Given the description of an element on the screen output the (x, y) to click on. 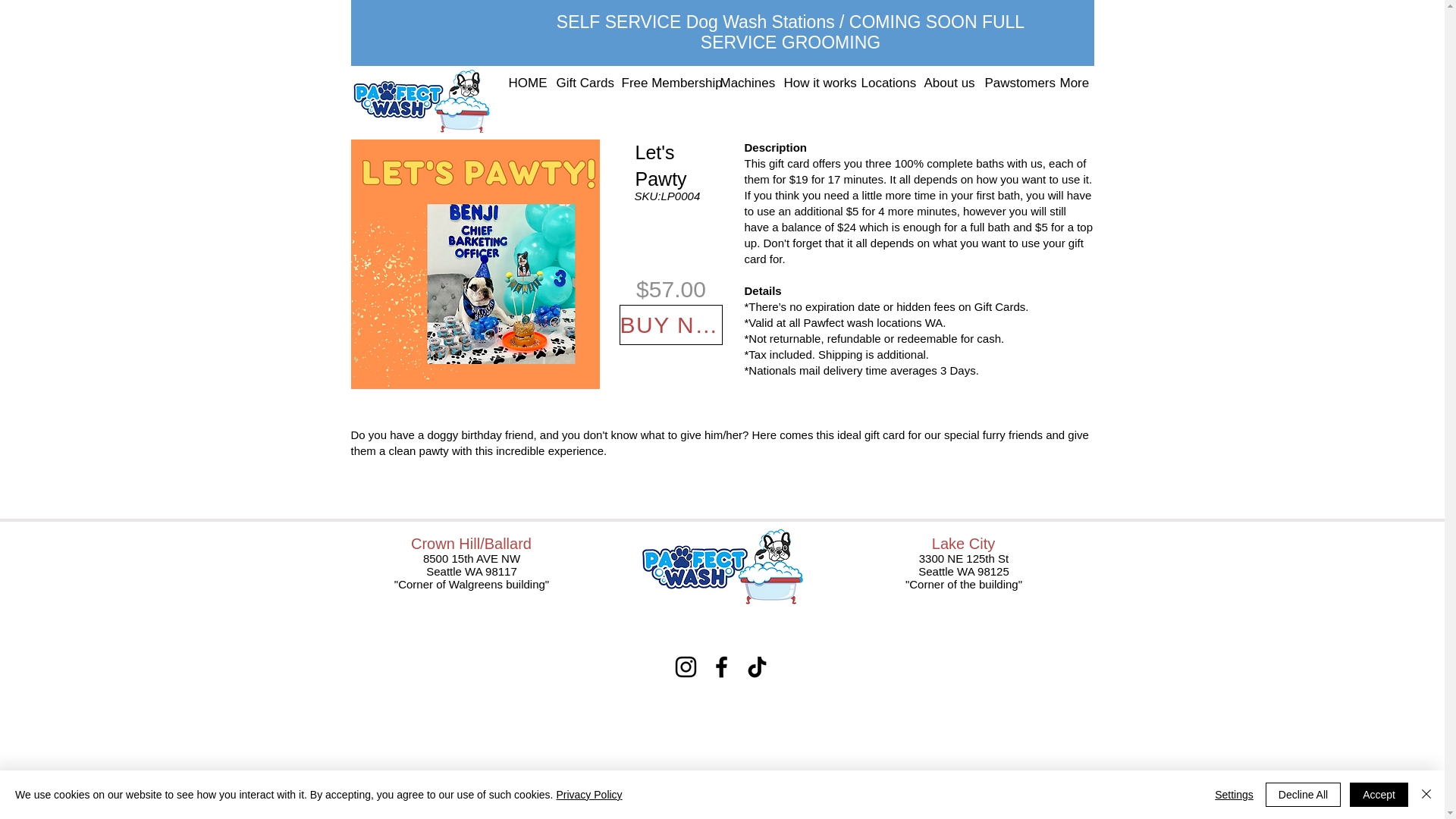
HOME (520, 83)
How it works (809, 83)
Accept (1378, 794)
Decline All (1302, 794)
Privacy Policy (588, 794)
About us (943, 83)
Ballard (507, 543)
Locations (880, 83)
Lake City (962, 543)
BUY NOW (670, 324)
